Given the description of an element on the screen output the (x, y) to click on. 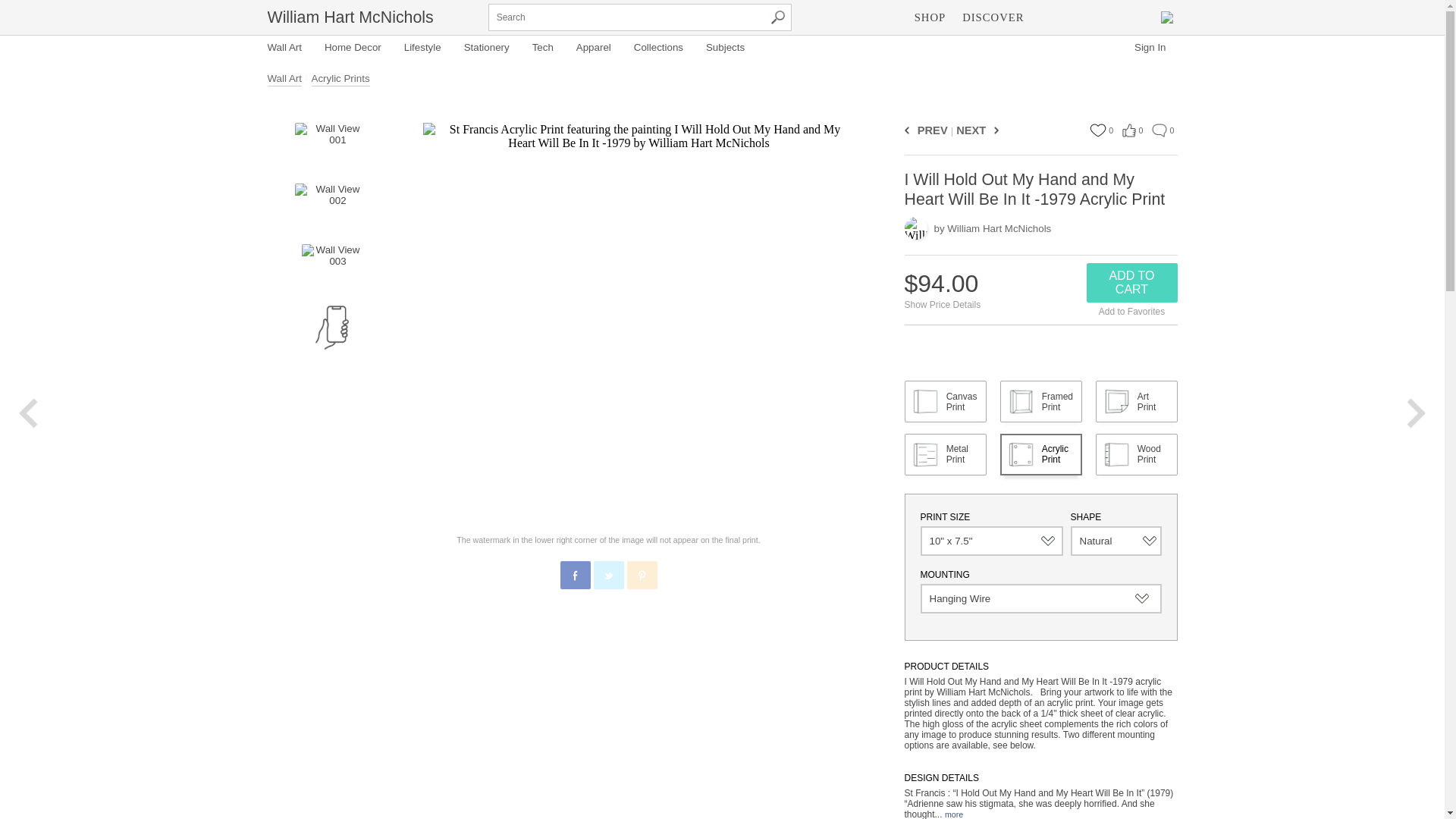
Facebook (575, 575)
Favorite (1097, 130)
Wall View 001 (331, 145)
Search (777, 17)
Wall View 002 (331, 206)
Share Product on Facebook (574, 574)
William Hart McNichols (349, 16)
SHOP (929, 16)
DISCOVER (992, 16)
Pinterest (642, 575)
